Given the description of an element on the screen output the (x, y) to click on. 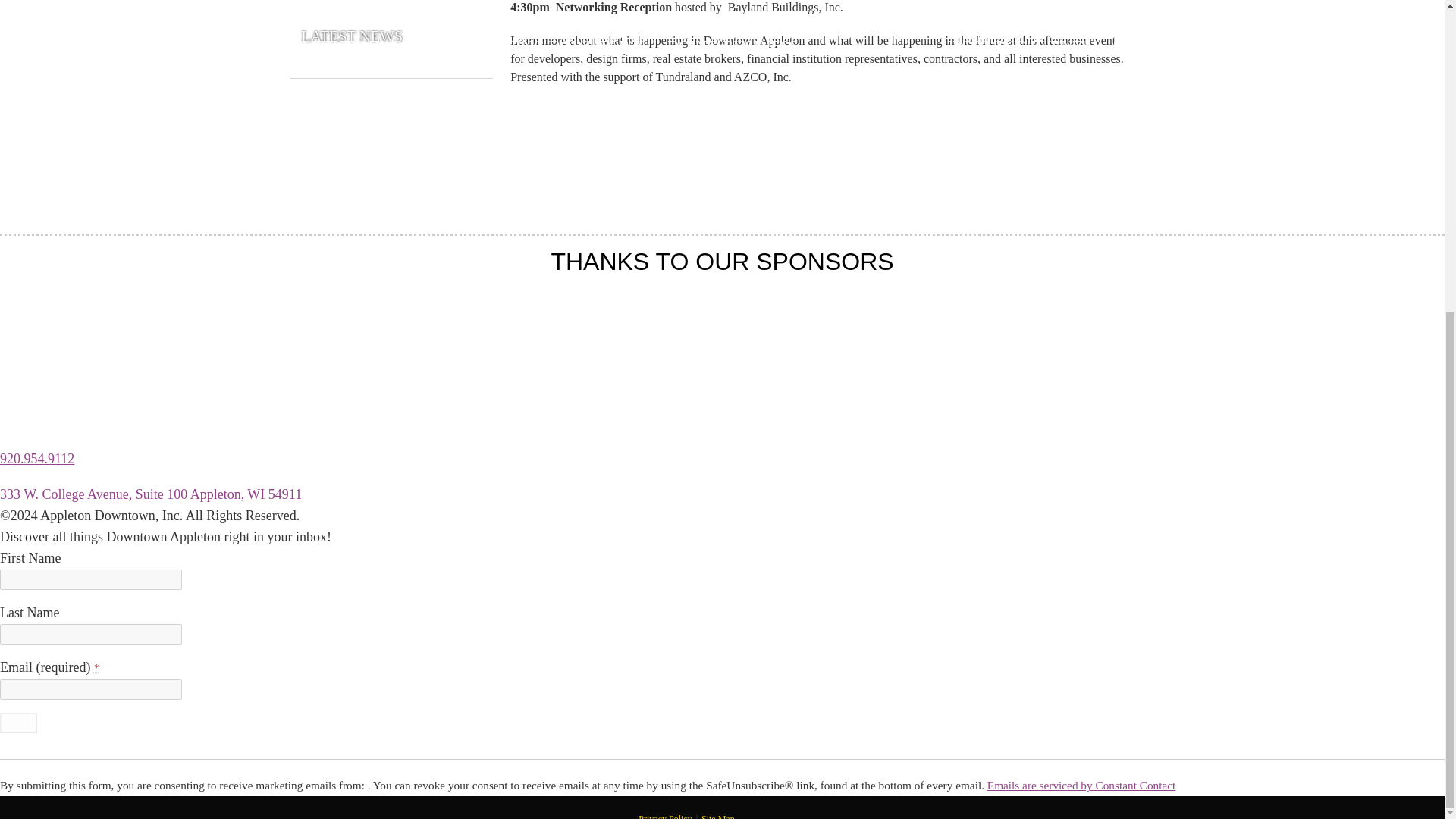
GO! (18, 722)
